Given the description of an element on the screen output the (x, y) to click on. 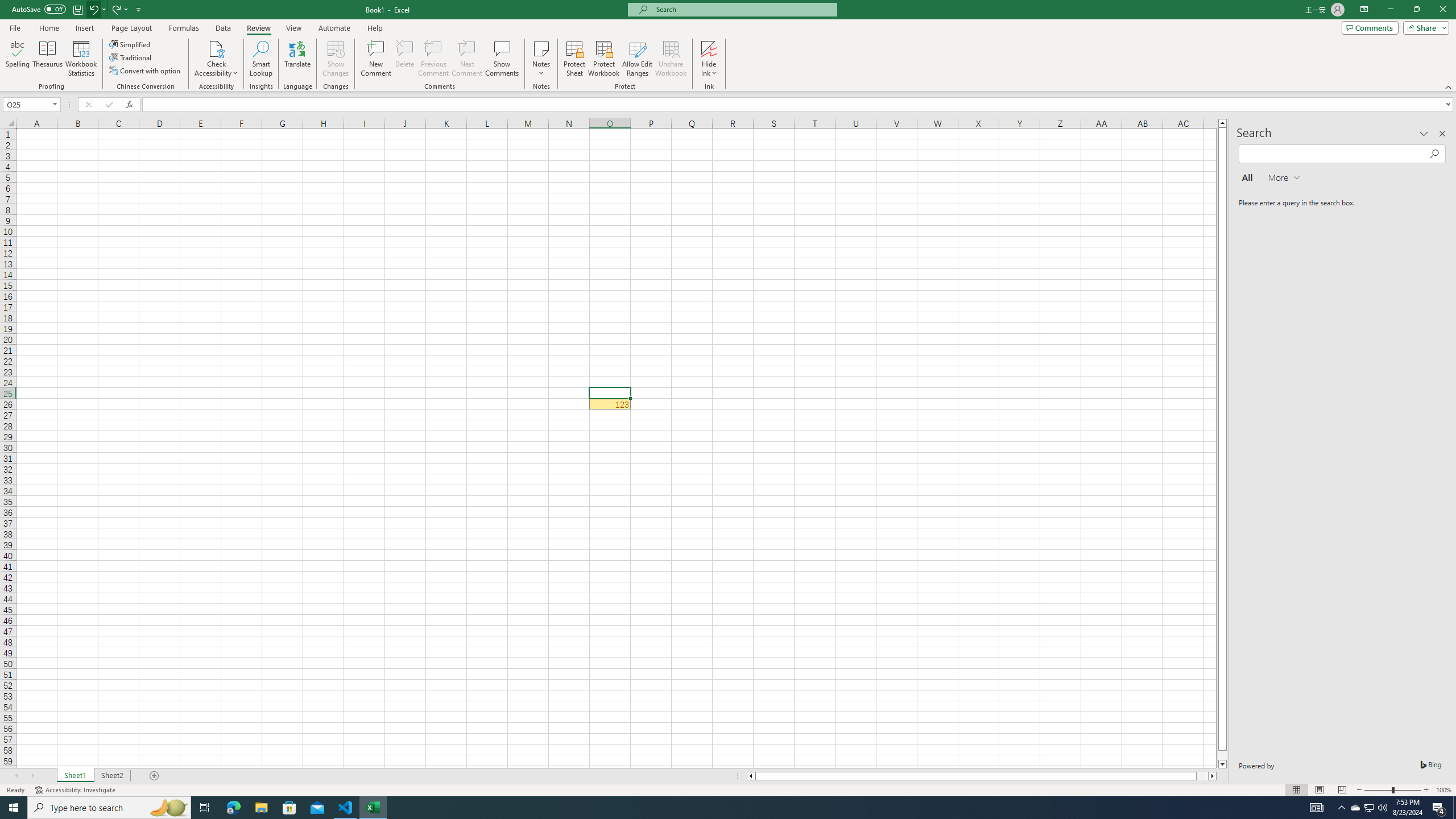
Unshare Workbook (670, 58)
Convert with option (145, 69)
Show Changes (335, 58)
Protect Workbook... (603, 58)
Previous Comment (432, 58)
